Given the description of an element on the screen output the (x, y) to click on. 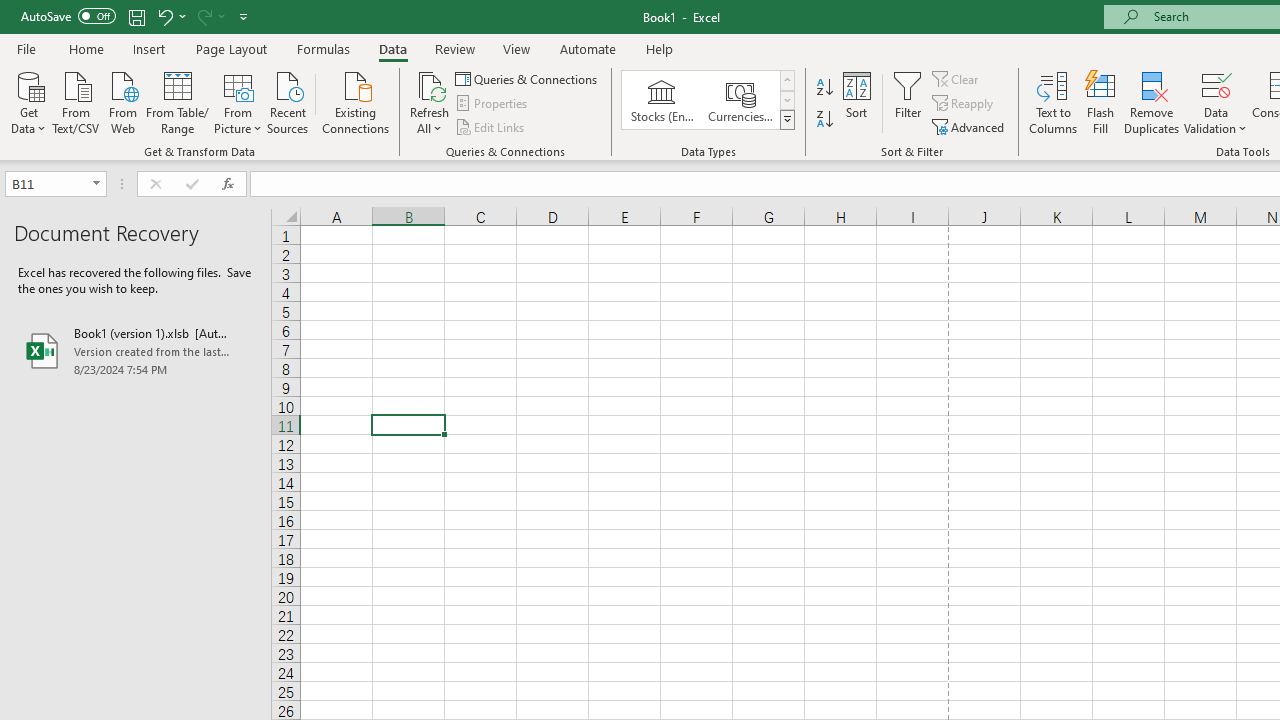
Book1 (version 1).xlsb  [AutoRecovered] (136, 350)
Refresh All (429, 84)
Flash Fill (1101, 102)
Sort... (856, 102)
Save (136, 15)
AutoSave (68, 16)
Row Down (786, 100)
View (517, 48)
Clear (957, 78)
